Given the description of an element on the screen output the (x, y) to click on. 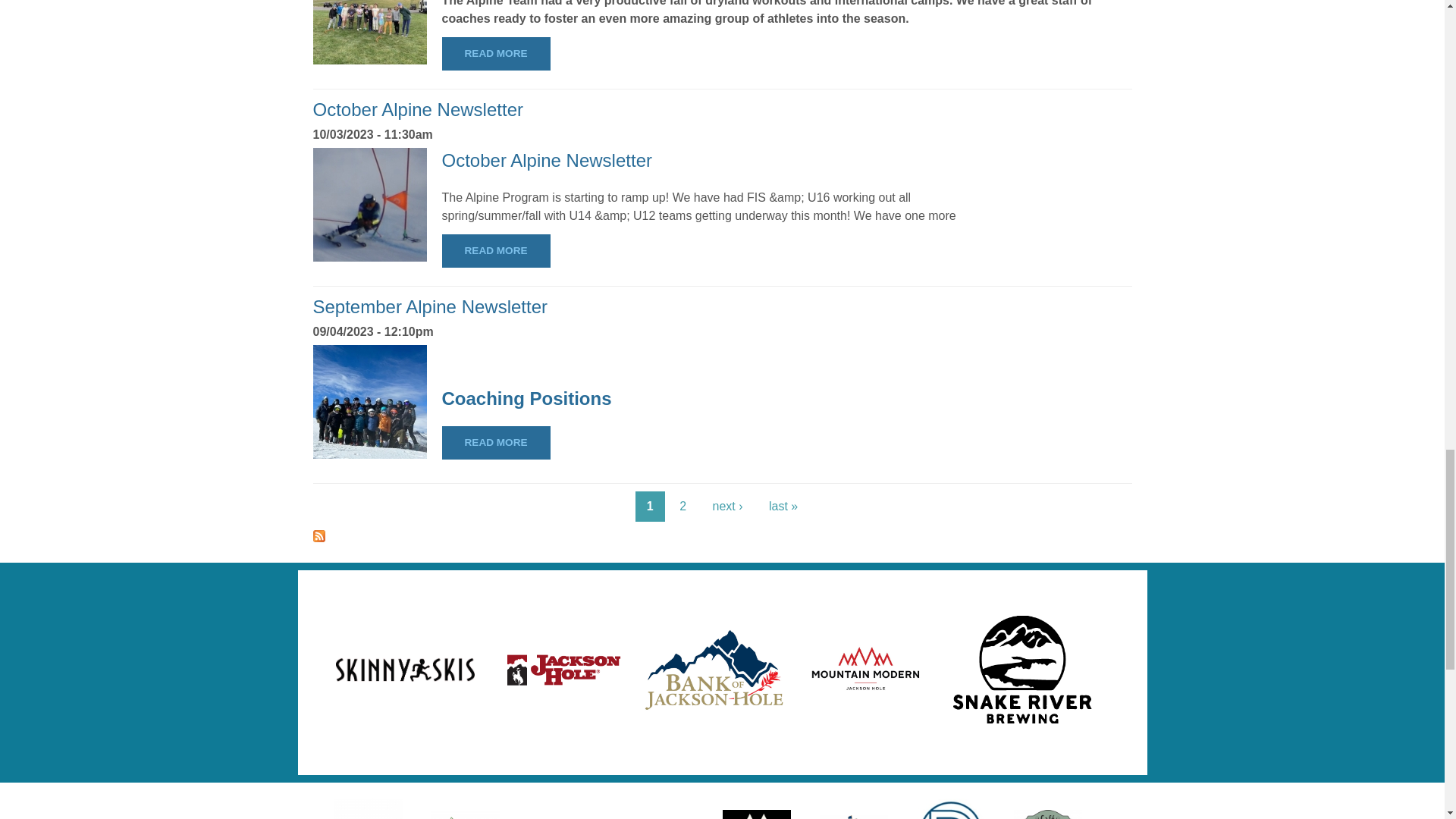
Alpine Dryland Continues! (369, 32)
Go to next page (727, 506)
Jaden Damours at Camp in Chile (369, 204)
Go to page 2 (682, 506)
JHSC Alpine Ski Team Group in Chile (369, 401)
